Given the description of an element on the screen output the (x, y) to click on. 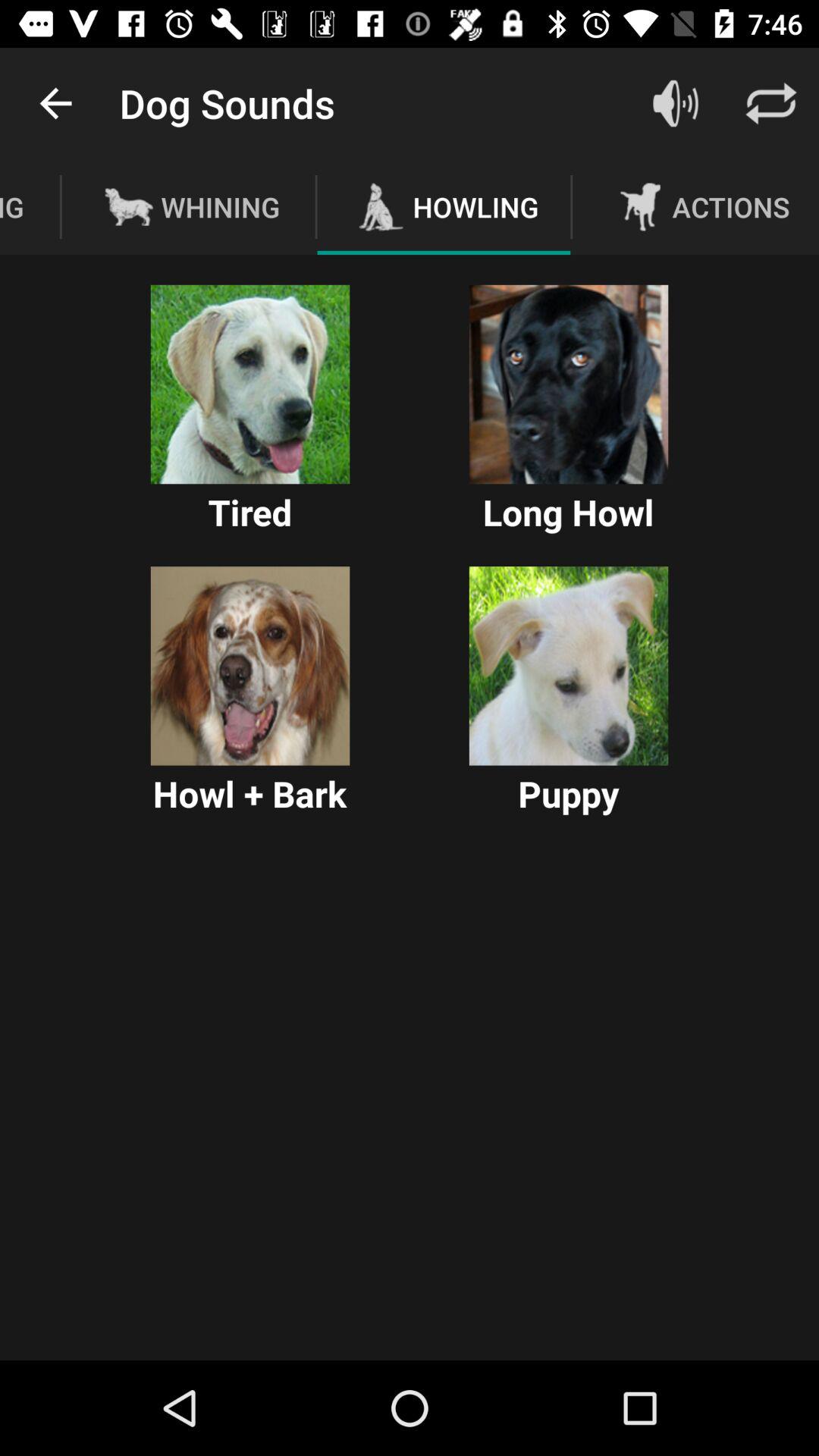
adjust sound (675, 103)
